Given the description of an element on the screen output the (x, y) to click on. 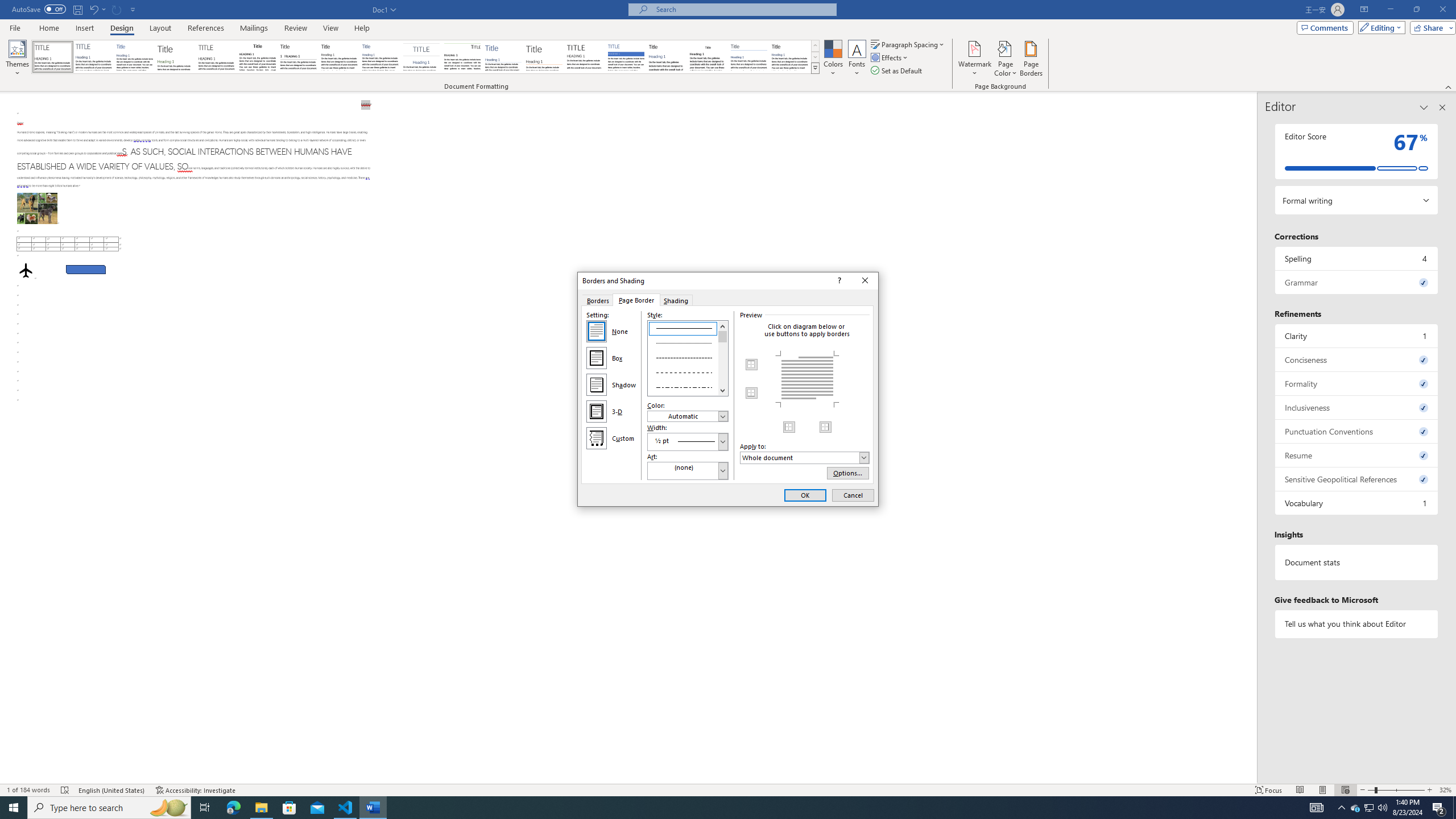
Lines (Stylish) (544, 56)
Dashed (large gap) (687, 371)
Art: (687, 470)
AutomationID: 4105 (1316, 807)
Left Border (788, 426)
Task View (204, 807)
Morphological variation in six dogs (36, 208)
Action Center, 2 new notifications (1439, 807)
